Given the description of an element on the screen output the (x, y) to click on. 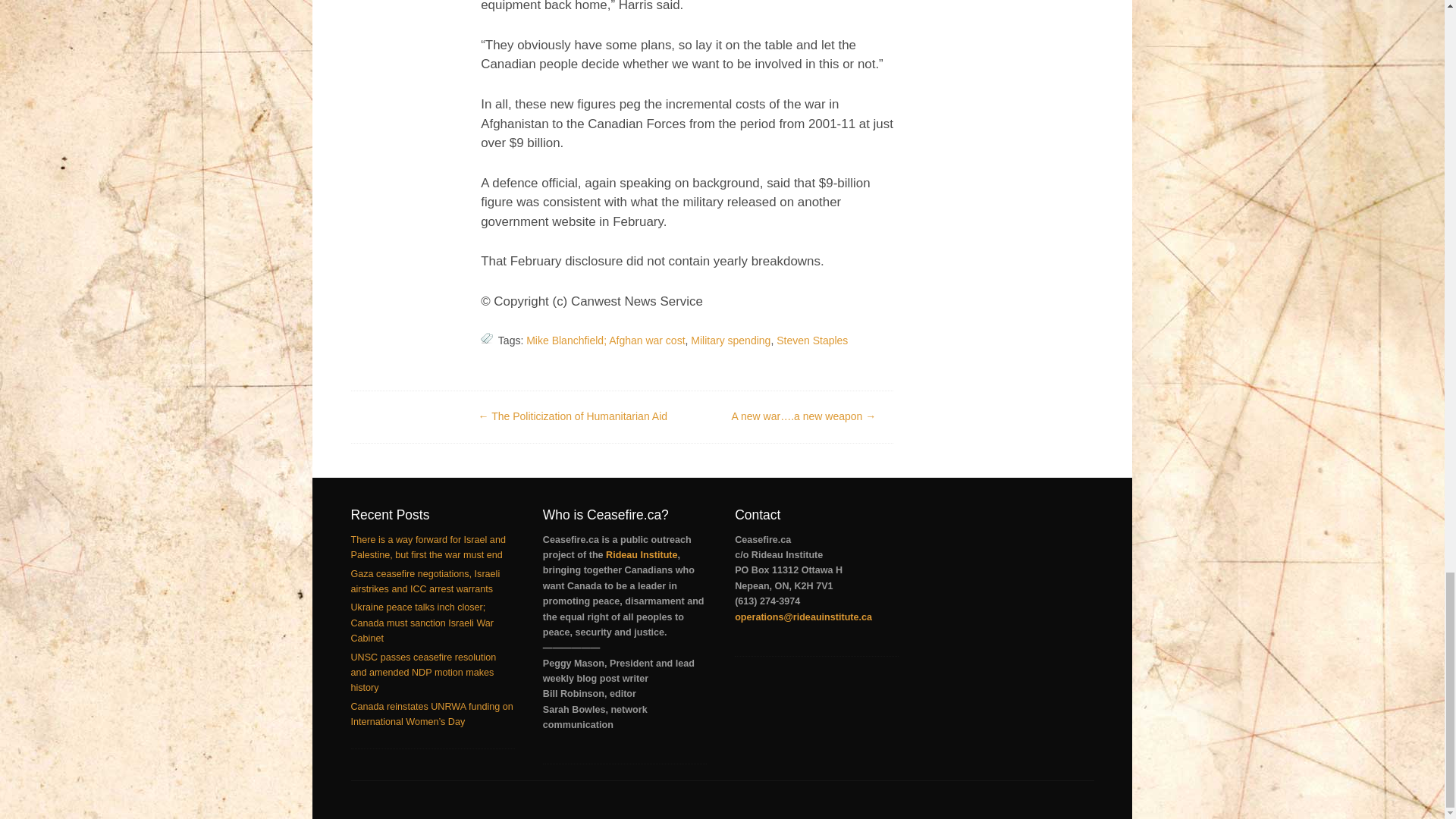
Mike Blanchfield; Afghan war cost (604, 340)
Steven Staples (811, 340)
Military spending (730, 340)
